Given the description of an element on the screen output the (x, y) to click on. 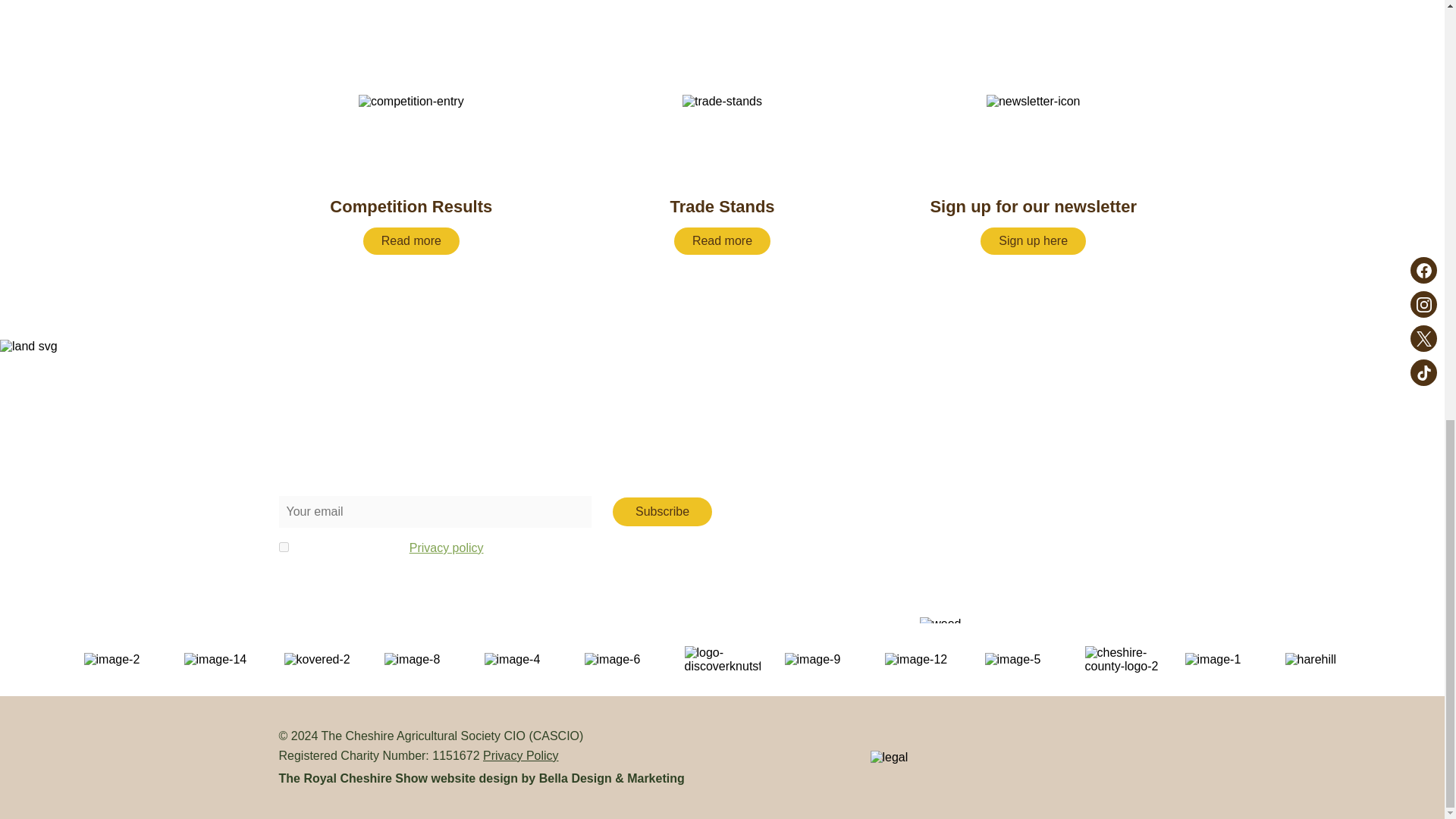
Privacy Policy (521, 755)
Subscribe (1033, 174)
Privacy policy (661, 511)
on (446, 547)
